Given the description of an element on the screen output the (x, y) to click on. 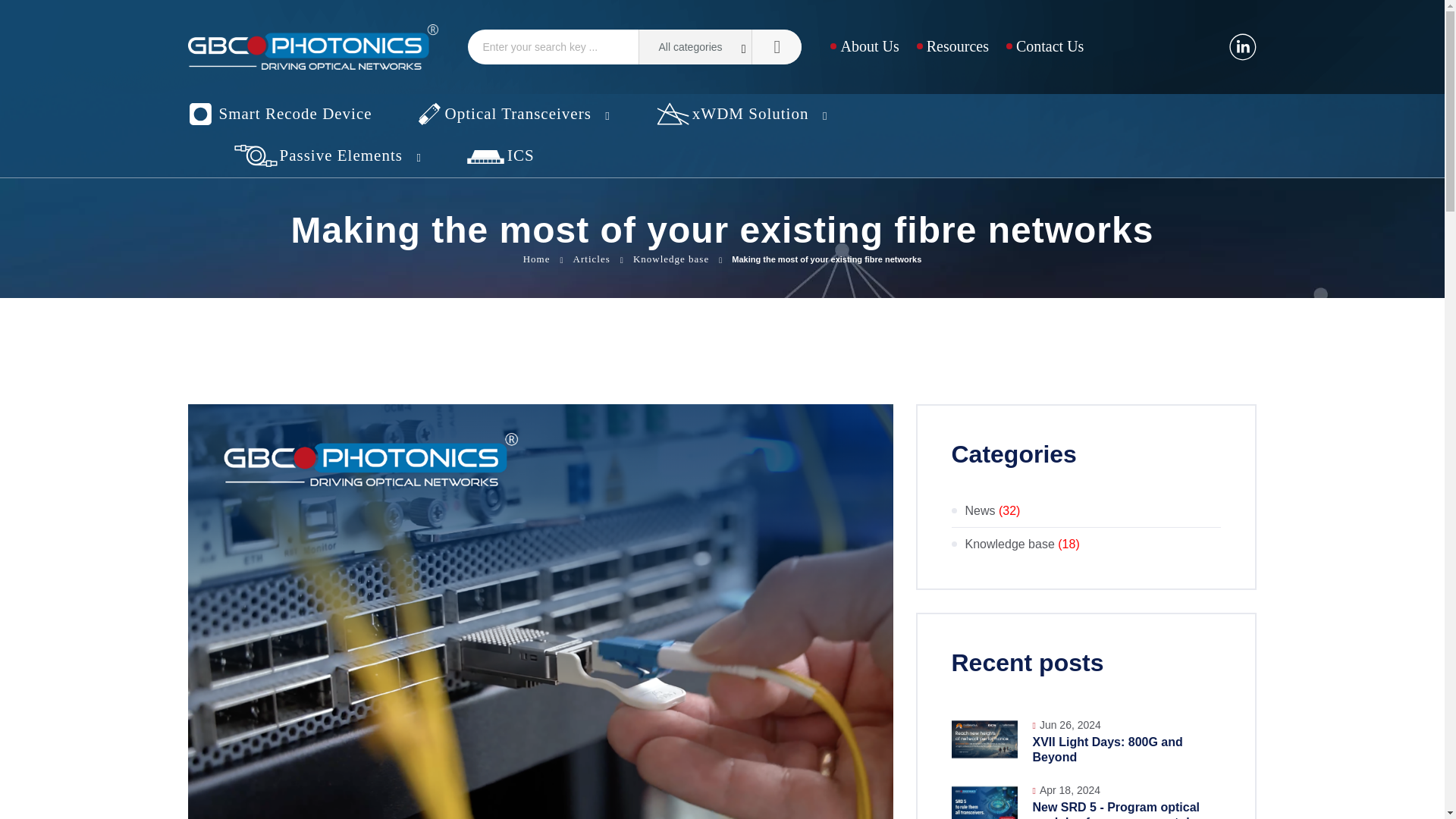
Resources (952, 46)
About Us (863, 46)
